Given the description of an element on the screen output the (x, y) to click on. 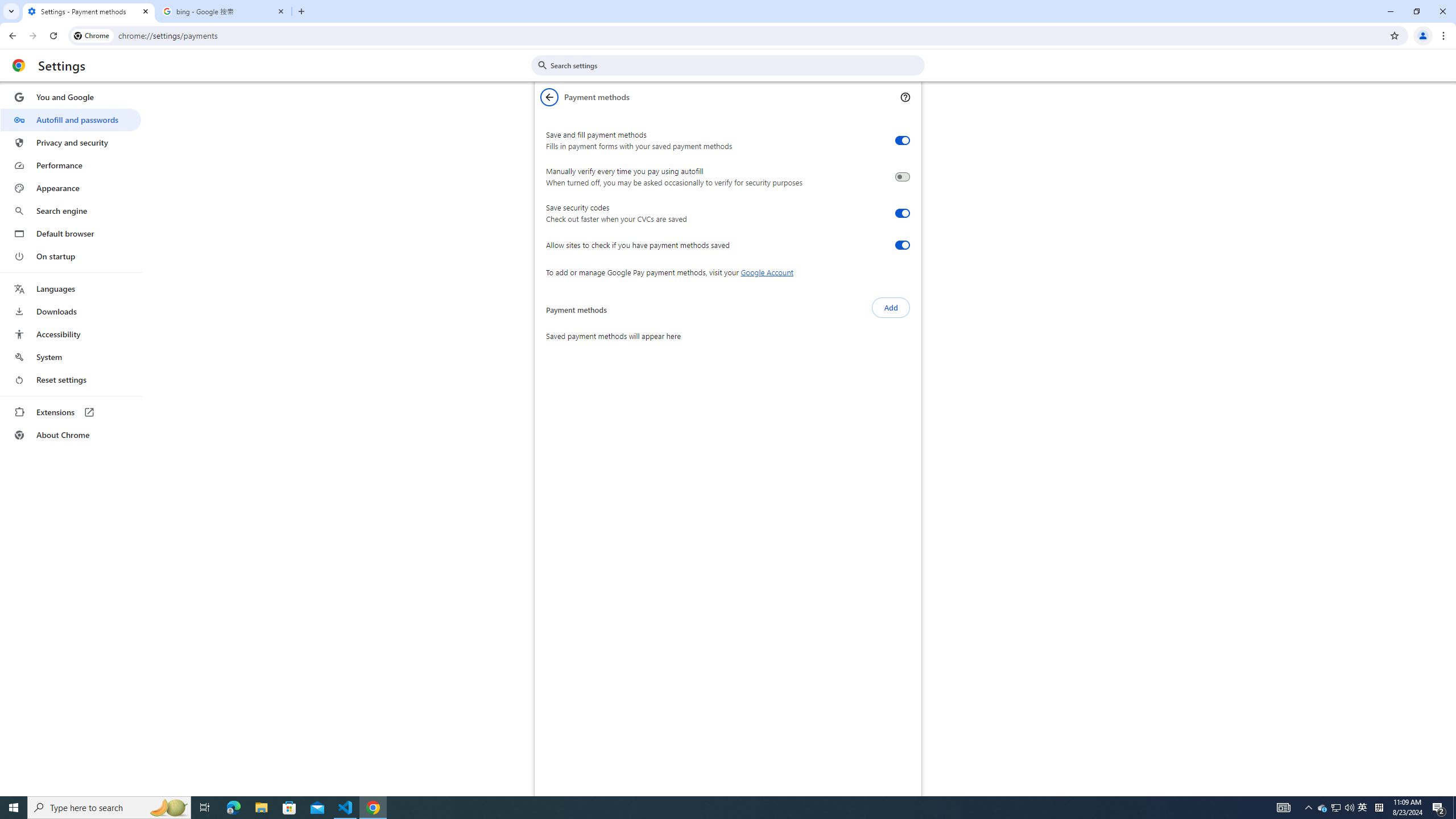
Search engine (70, 210)
Default browser (70, 233)
